Given the description of an element on the screen output the (x, y) to click on. 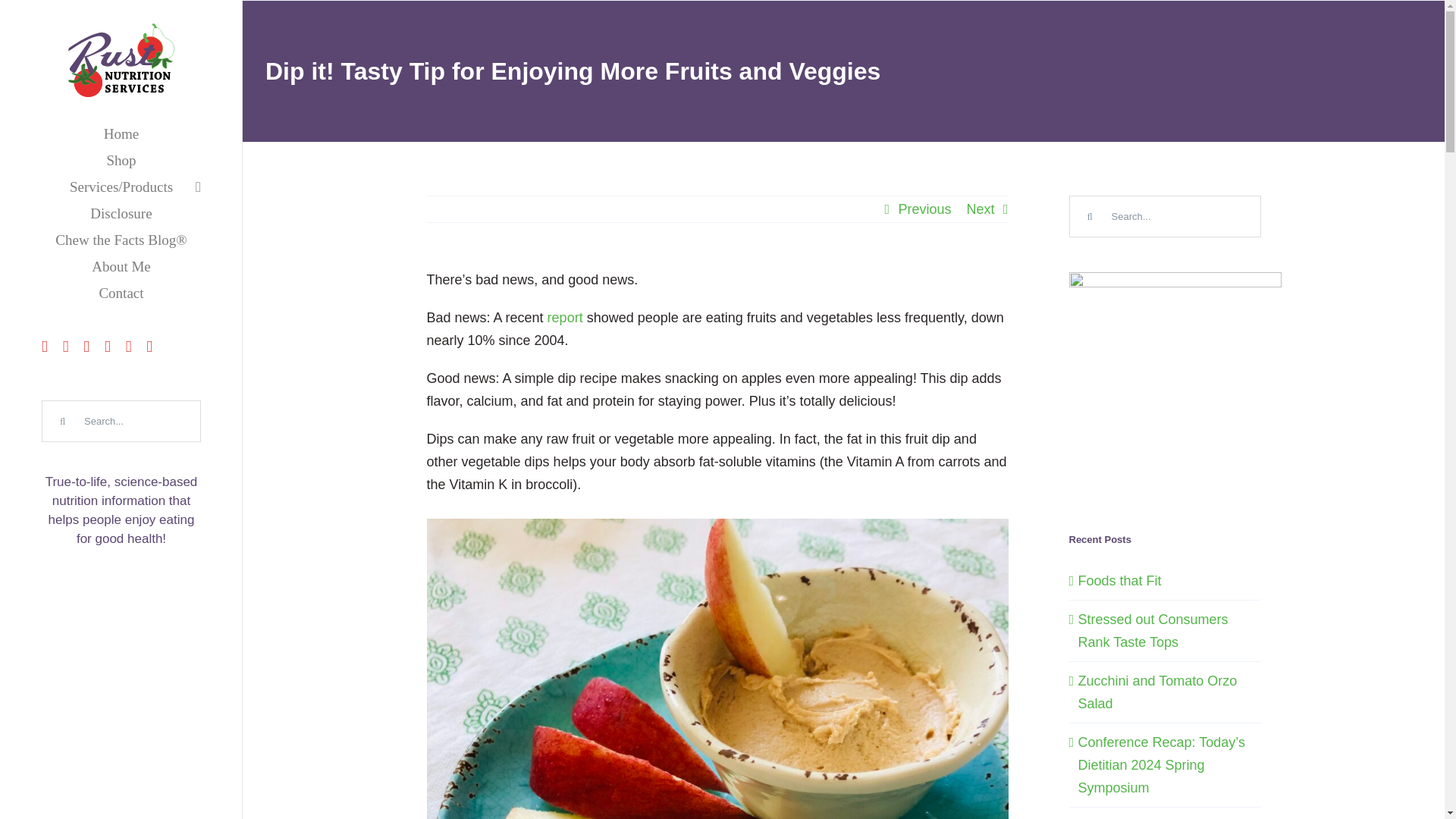
About Me (121, 266)
Disclosure (121, 212)
Contact (121, 293)
report (565, 317)
Home (121, 133)
Shop (121, 160)
Previous (924, 208)
Next (980, 208)
